Given the description of an element on the screen output the (x, y) to click on. 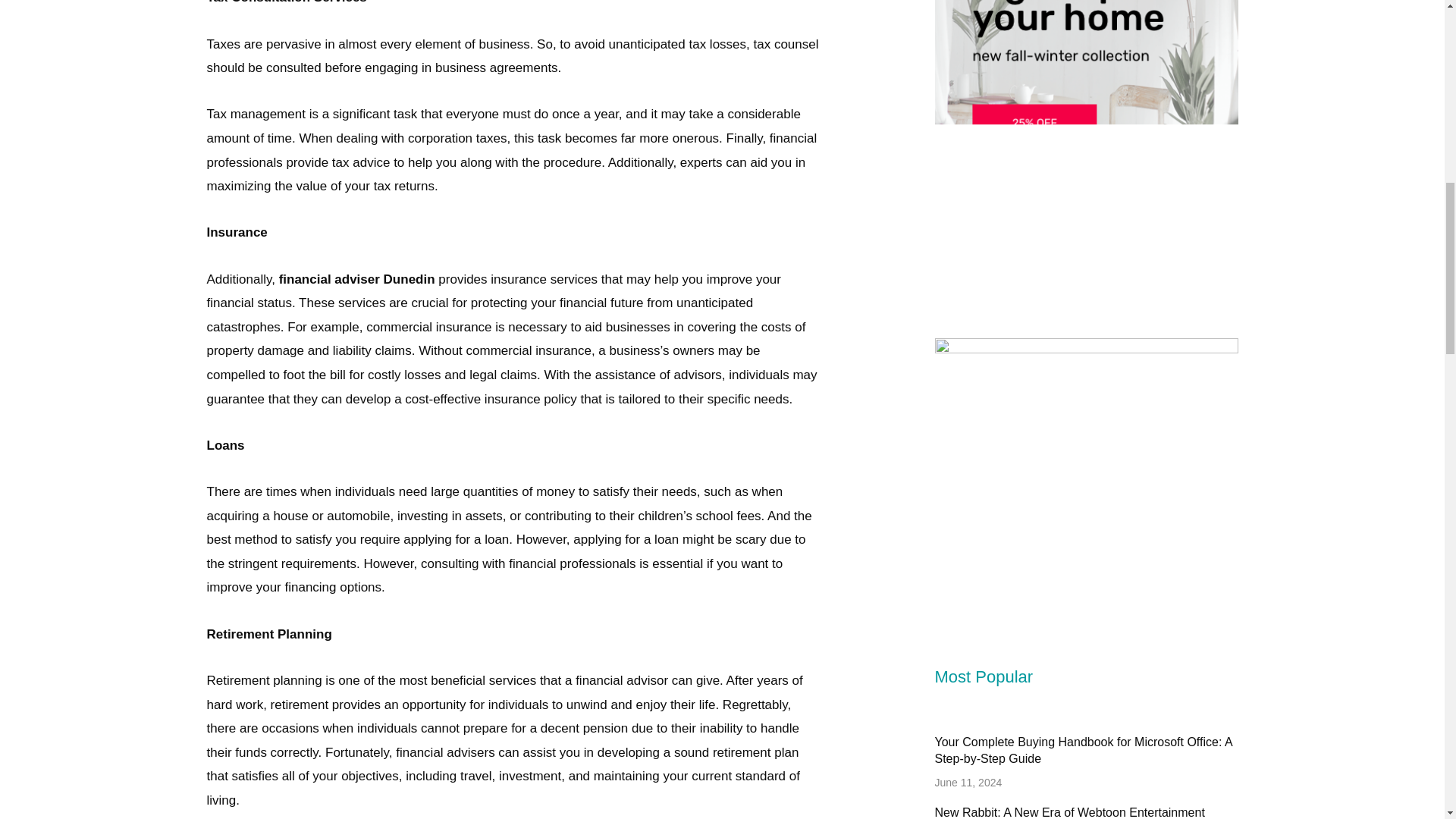
New Rabbit: A New Era of Webtoon Entertainment (1069, 812)
